Given the description of an element on the screen output the (x, y) to click on. 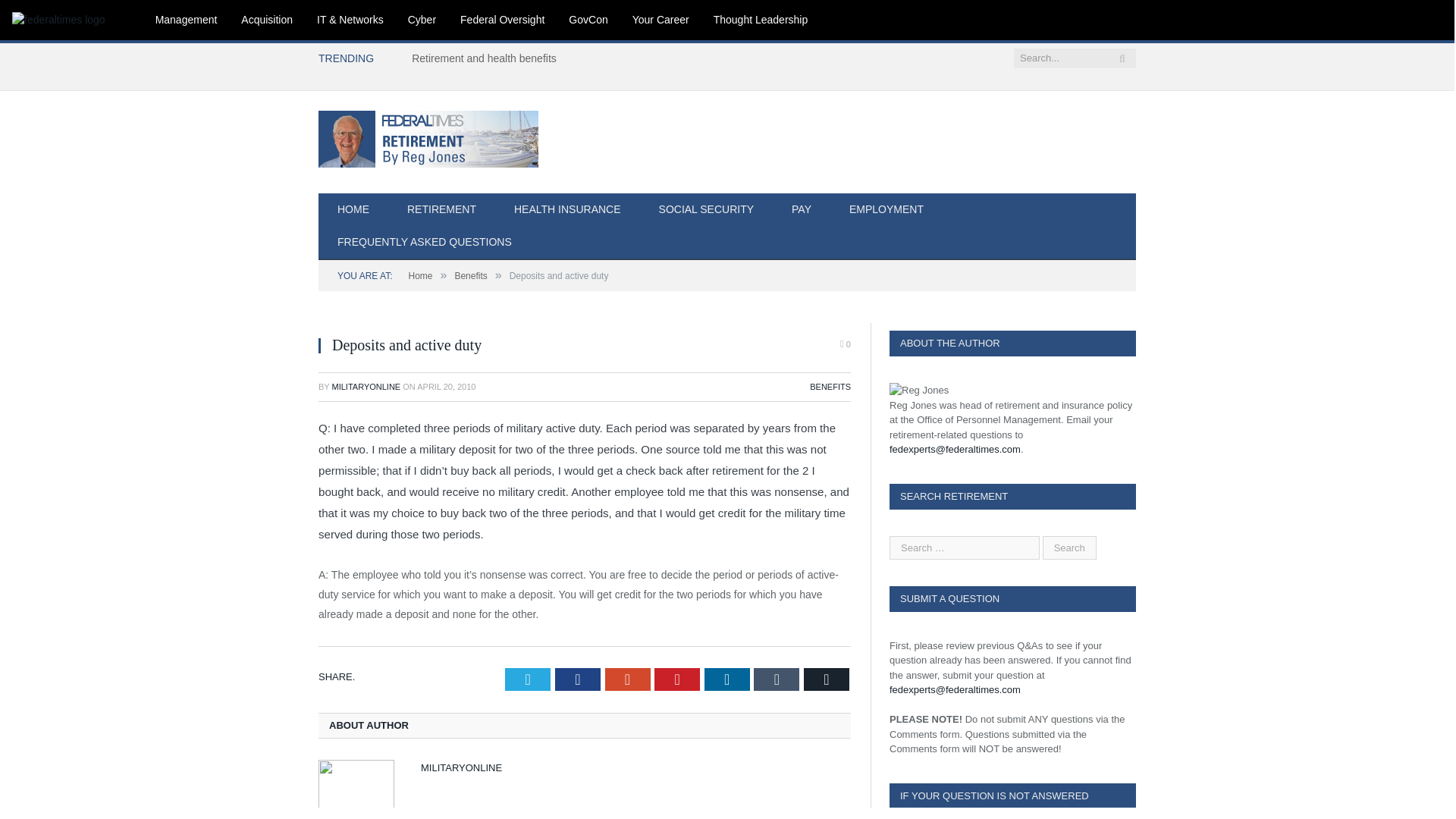
Search (1069, 546)
HOME (353, 210)
GovCon (588, 19)
Search (1069, 546)
PAY (801, 210)
BENEFITS (829, 386)
Acquisition (266, 19)
Benefits (470, 276)
Pinterest (676, 679)
Federal Oversight (502, 19)
FREQUENTLY ASKED QUESTIONS (424, 243)
MILITARYONLINE (366, 386)
Cyber (422, 19)
Facebook (576, 679)
Thought Leadership (761, 19)
